Given the description of an element on the screen output the (x, y) to click on. 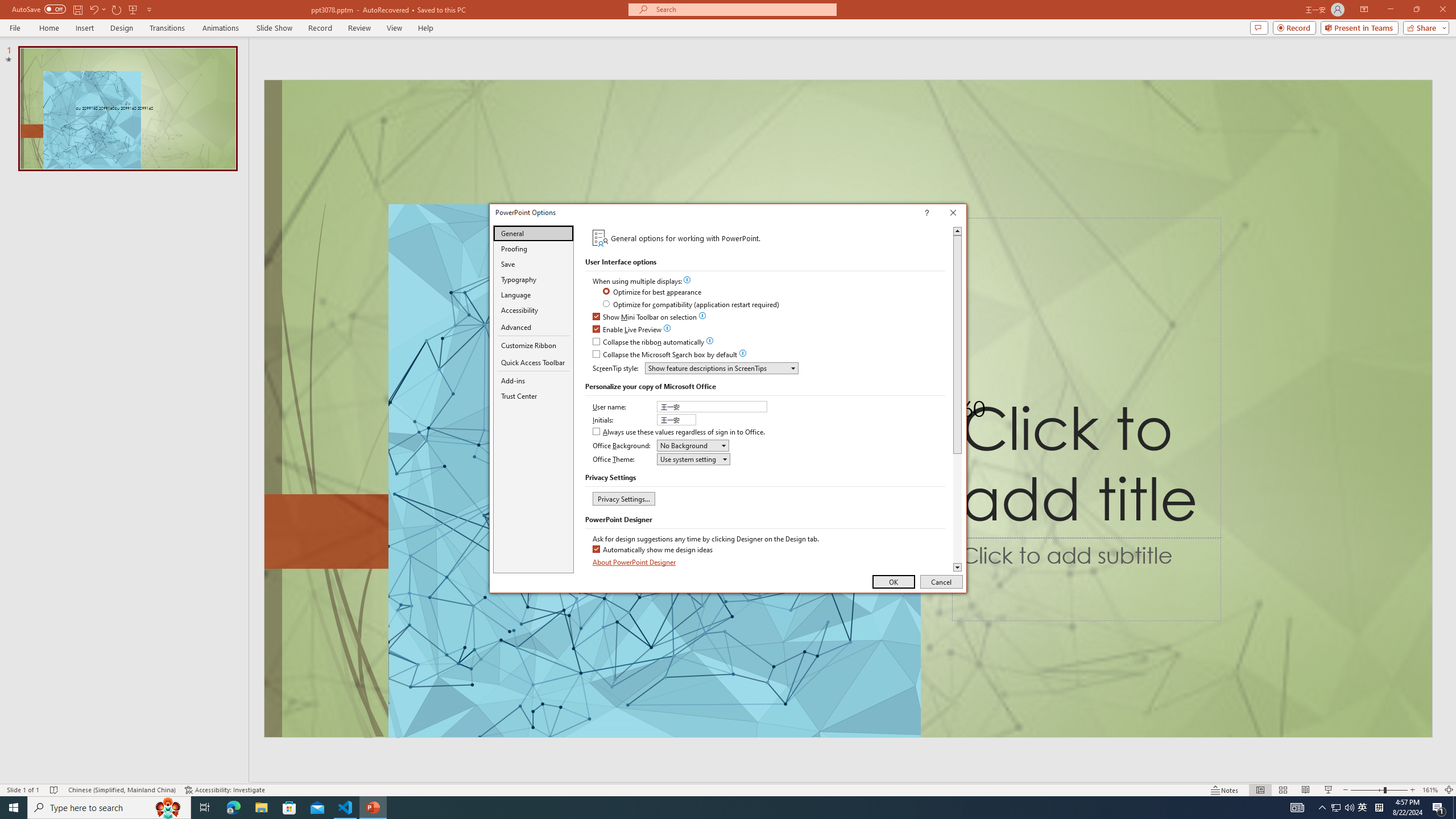
About PowerPoint Designer (635, 561)
Typography (533, 279)
Class: NetUIScrollBar (957, 399)
Accessibility (533, 309)
Start (13, 807)
Microsoft search (742, 9)
AutomationID: 4105 (1297, 807)
Microsoft Edge (233, 807)
